Given the description of an element on the screen output the (x, y) to click on. 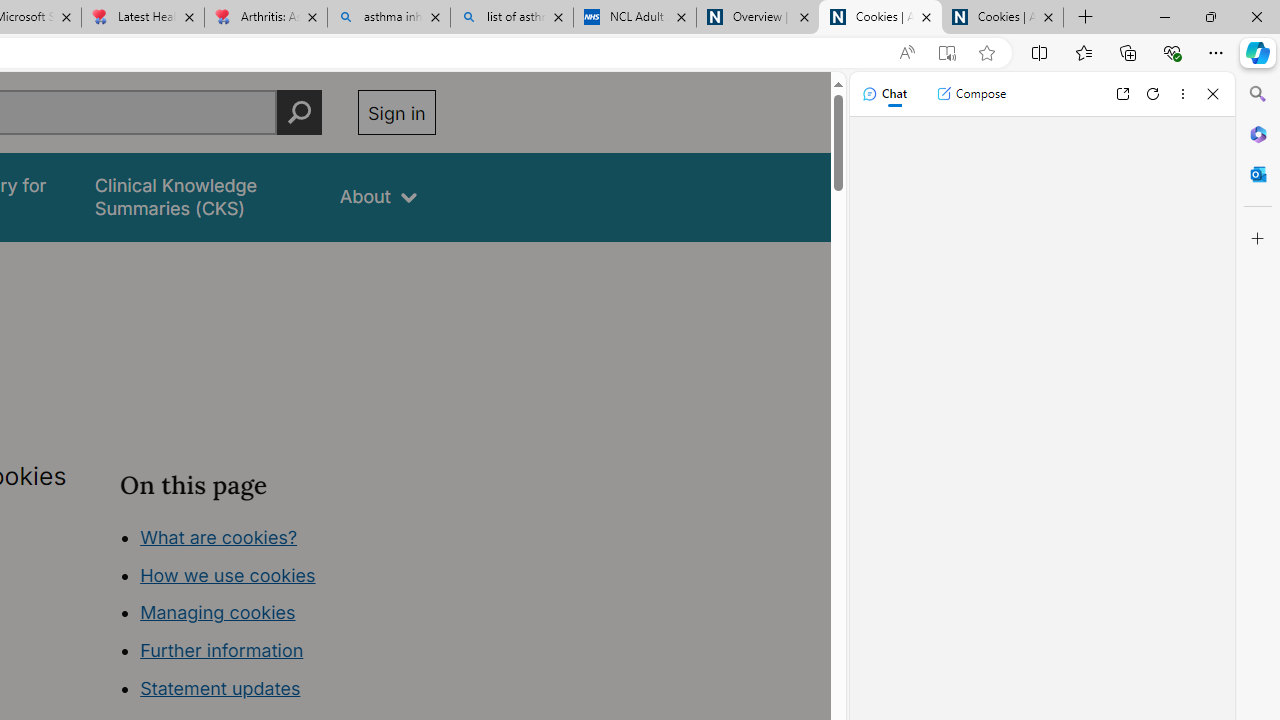
asthma inhaler - Search (388, 17)
What are cookies? (218, 536)
About (378, 196)
Compose (971, 93)
Perform search (299, 112)
Managing cookies (217, 612)
Chat (884, 93)
